Given the description of an element on the screen output the (x, y) to click on. 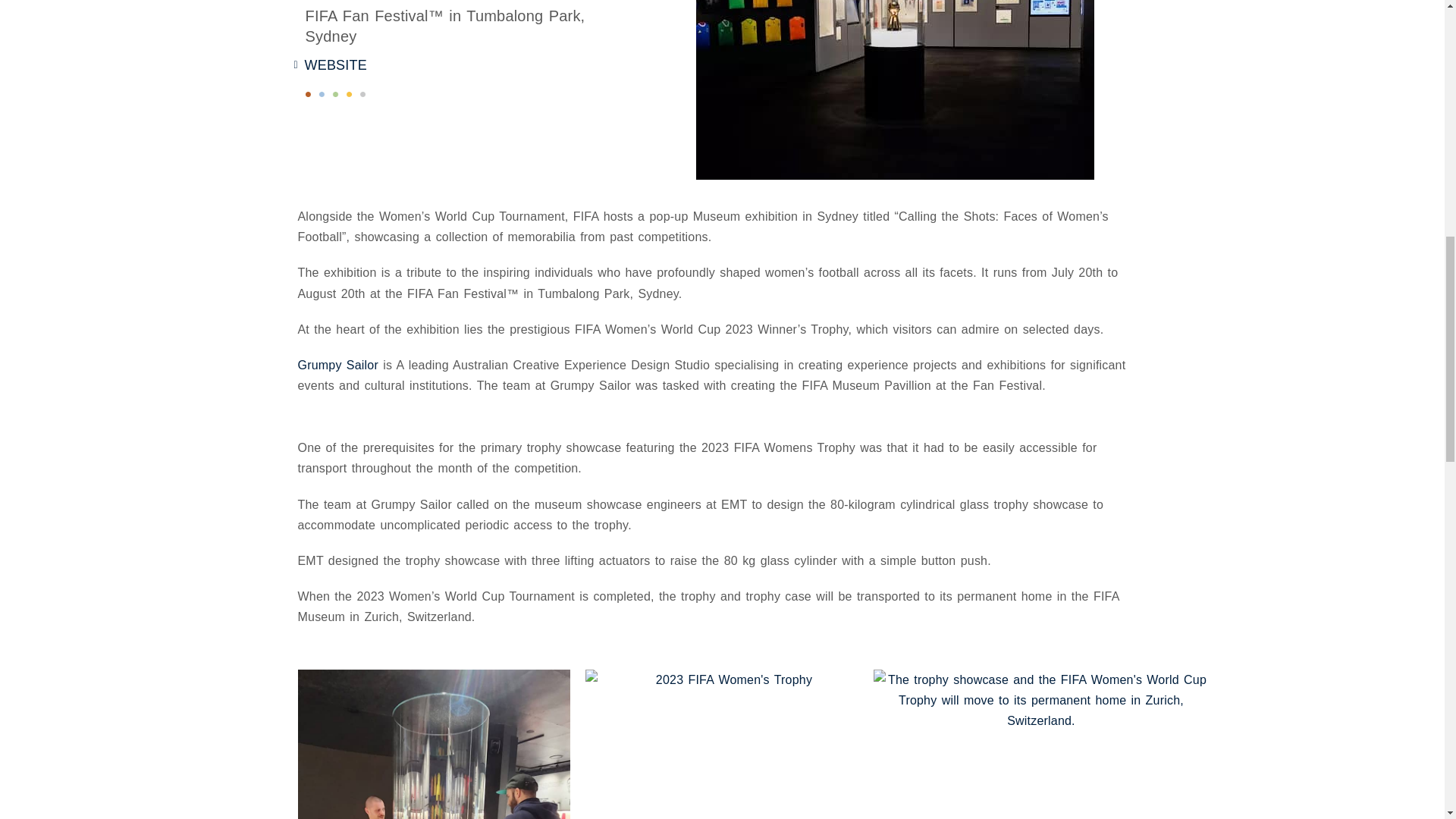
WEBSITE (330, 65)
Grumpy Sailor (337, 364)
